Given the description of an element on the screen output the (x, y) to click on. 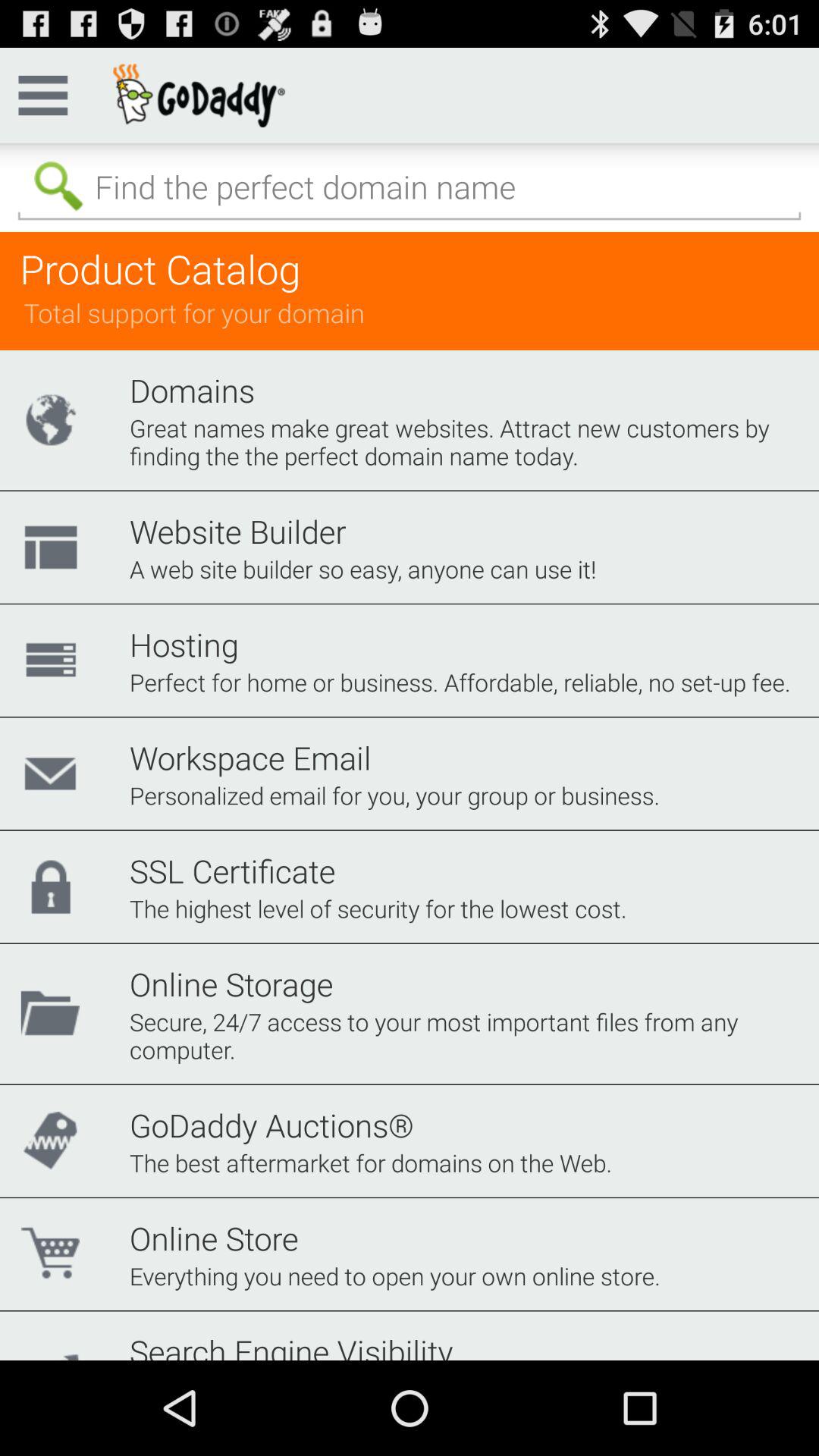
search domain name (409, 187)
